Given the description of an element on the screen output the (x, y) to click on. 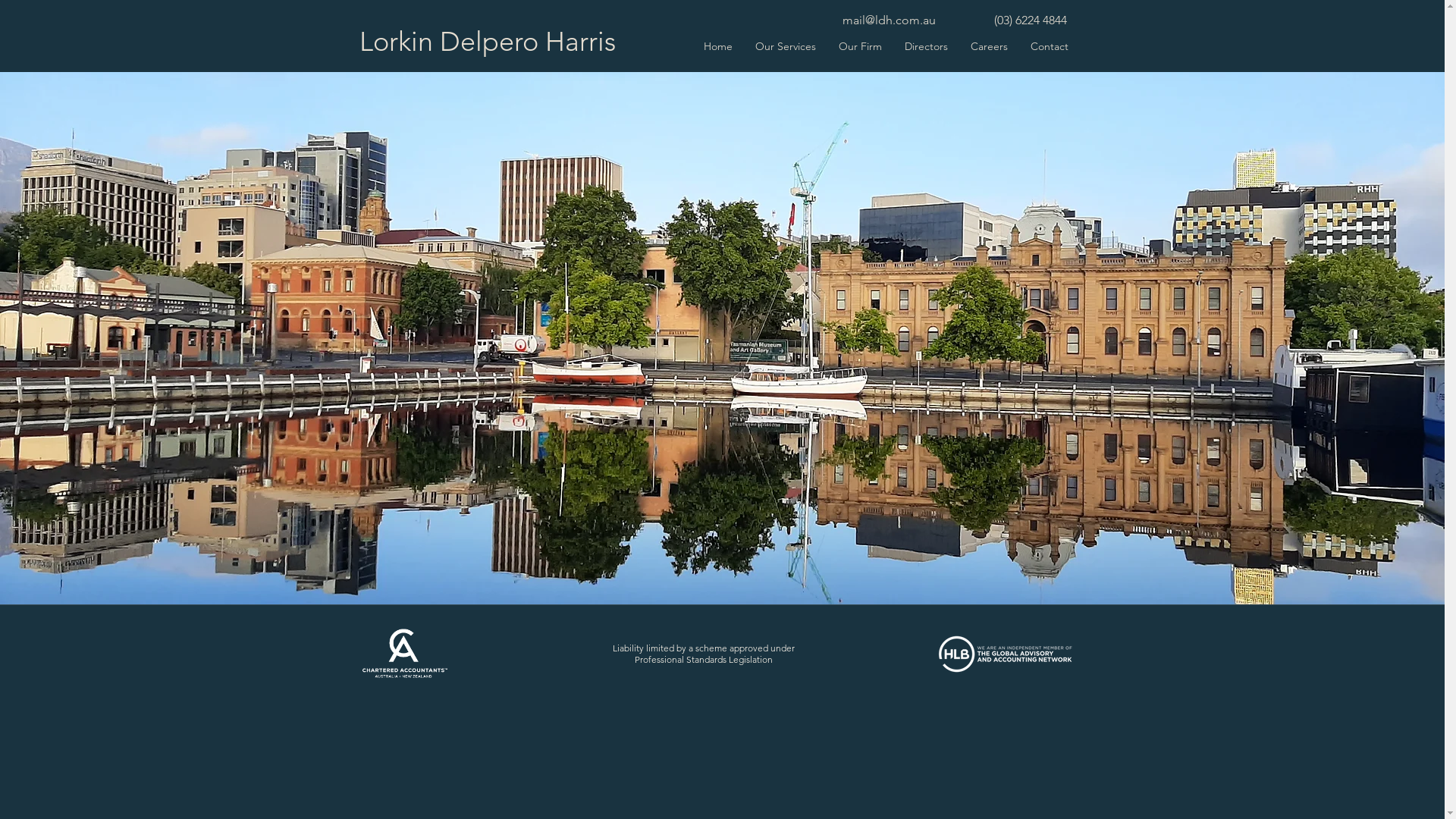
Home Element type: text (717, 46)
mail@ldh.com.au Element type: text (888, 19)
Contact Element type: text (1049, 46)
Our Services Element type: text (784, 46)
Careers Element type: text (988, 46)
Directors Element type: text (926, 46)
Our Firm Element type: text (859, 46)
